Given the description of an element on the screen output the (x, y) to click on. 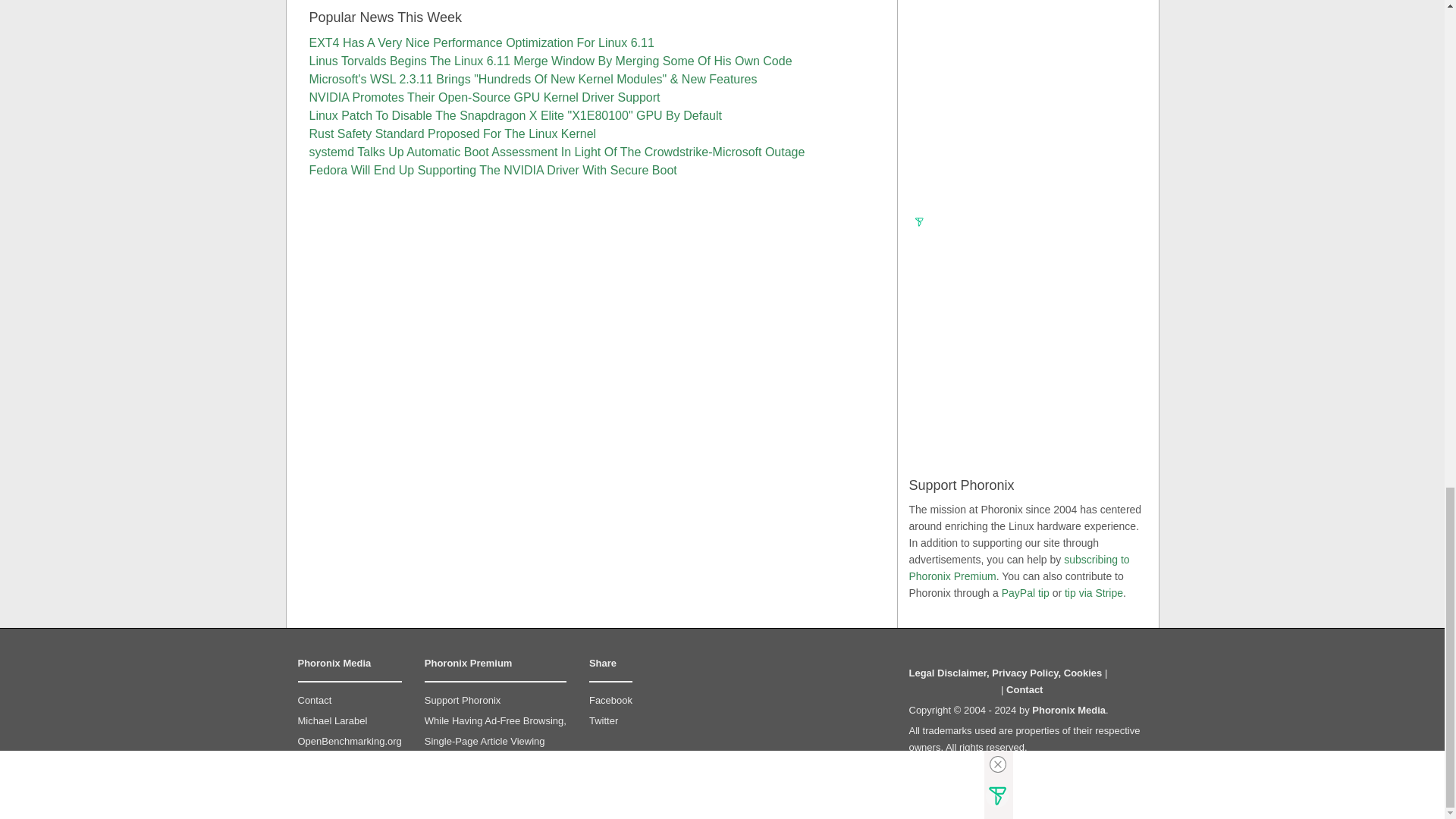
3rd party ad content (1026, 337)
3rd party ad content (1026, 117)
